Given the description of an element on the screen output the (x, y) to click on. 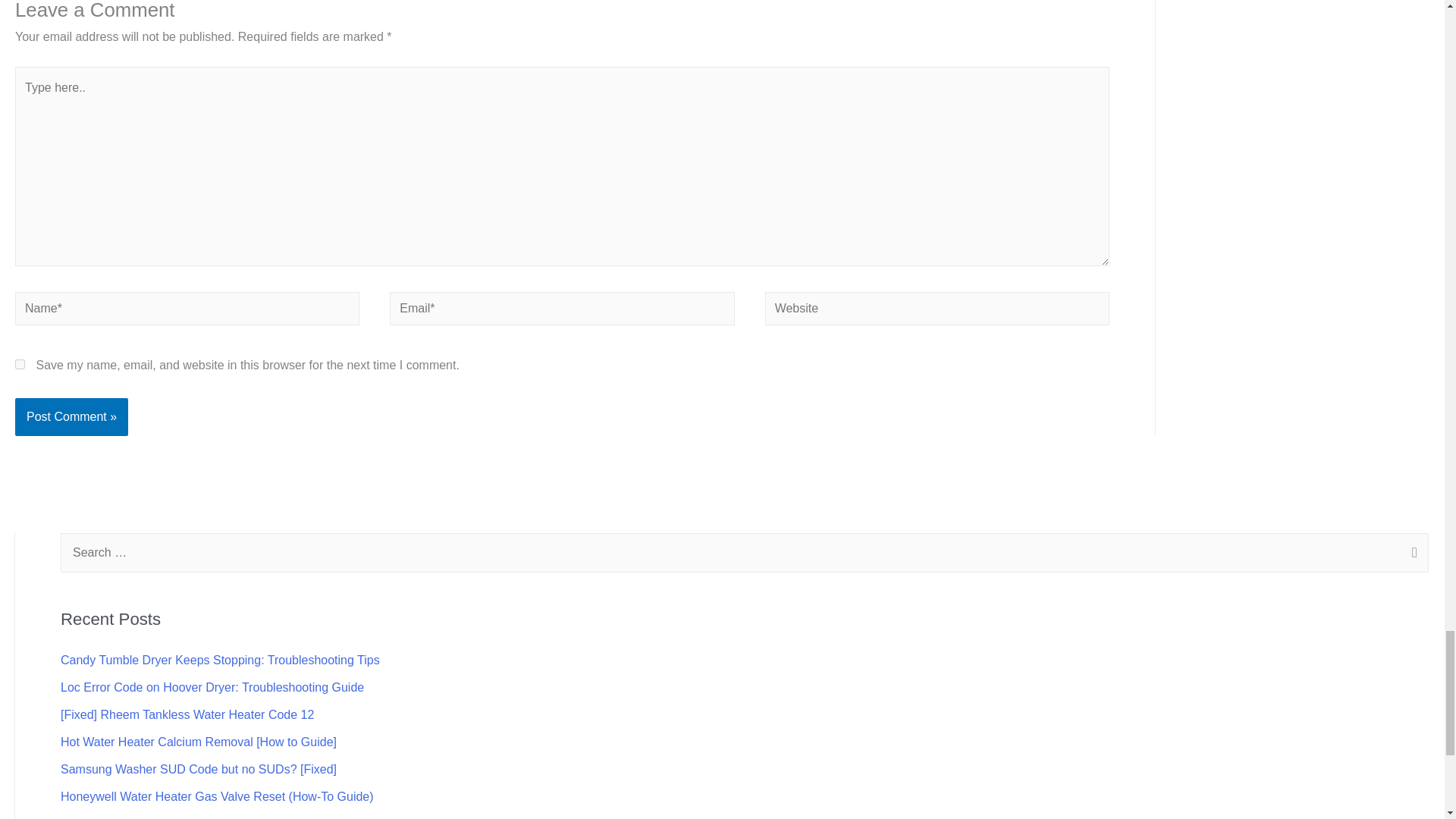
yes (19, 364)
